Given the description of an element on the screen output the (x, y) to click on. 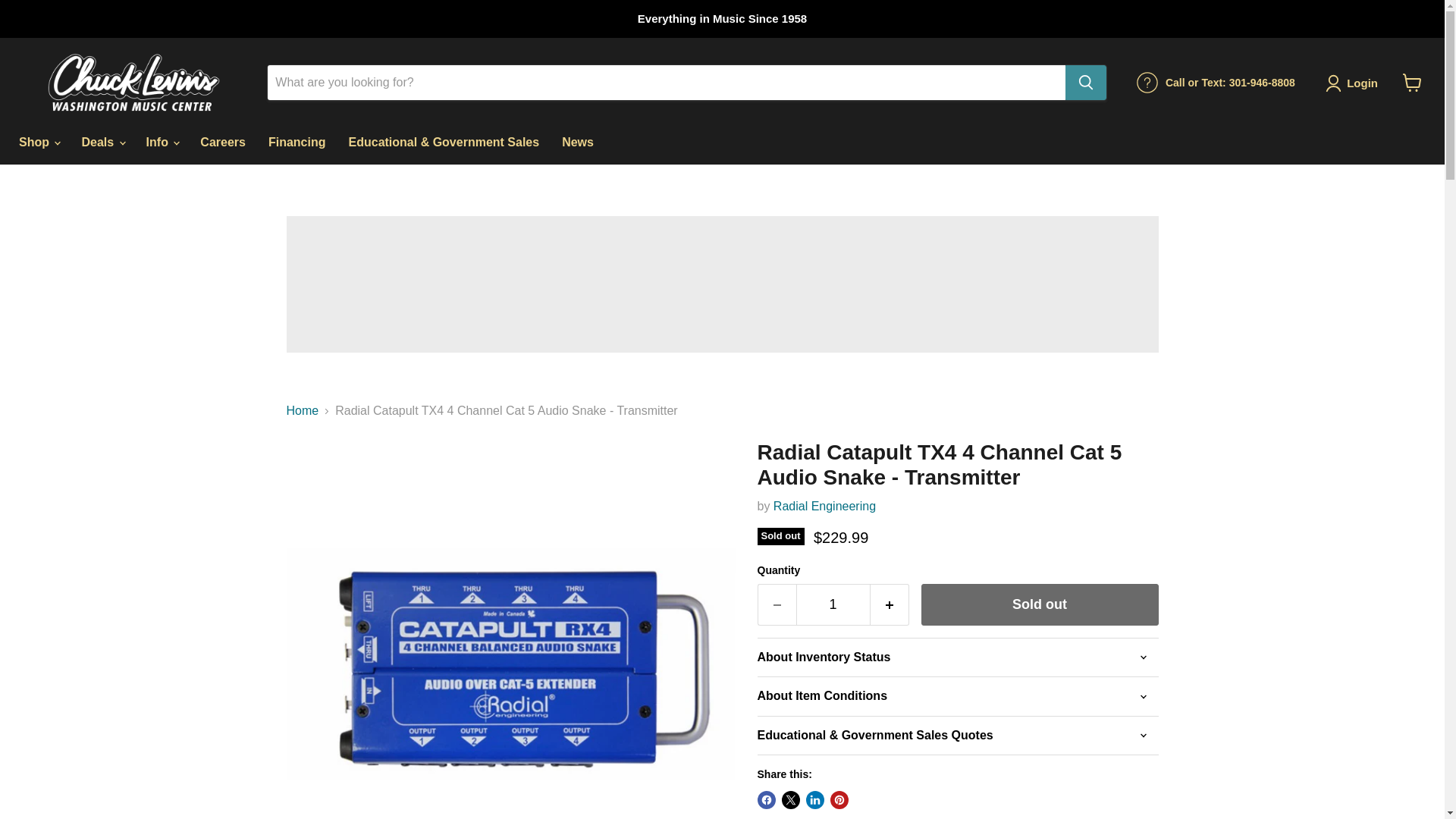
Call or Text: 301-946-8808 (1216, 82)
Radial Engineering (824, 505)
Login (1354, 83)
1 (833, 604)
View cart (1411, 82)
